Given the description of an element on the screen output the (x, y) to click on. 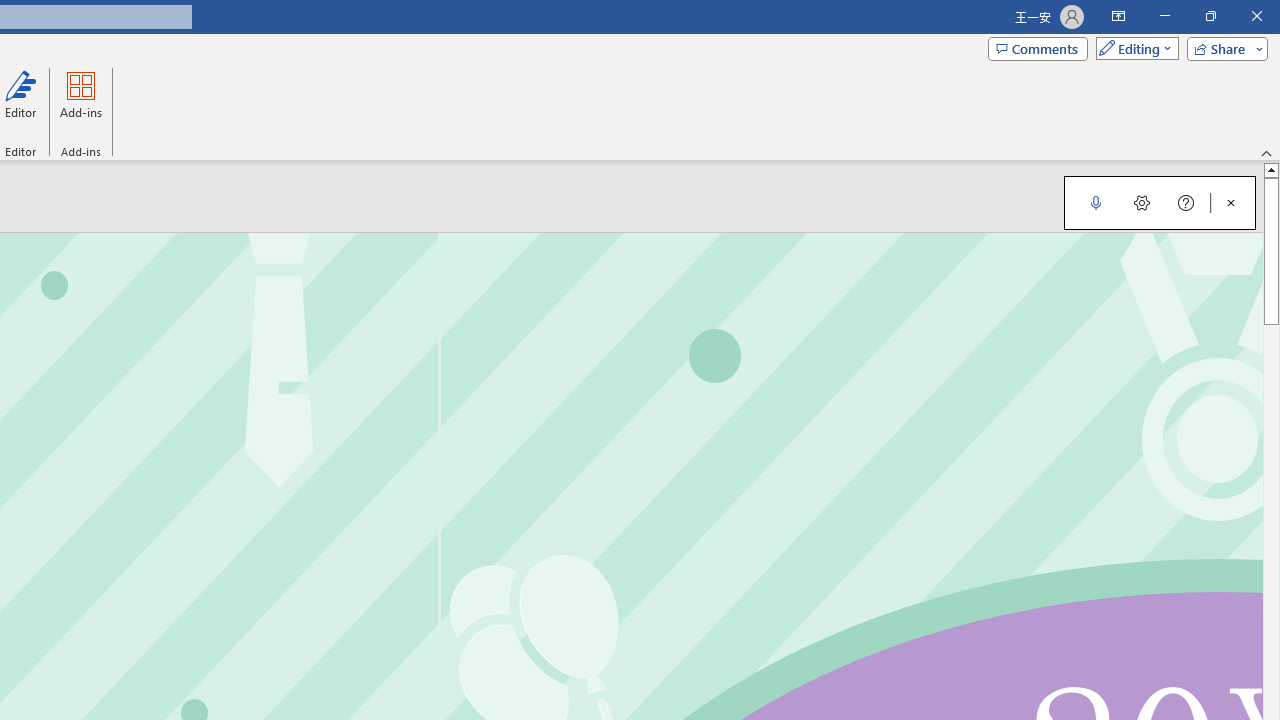
Close Dictation (1231, 202)
